Given the description of an element on the screen output the (x, y) to click on. 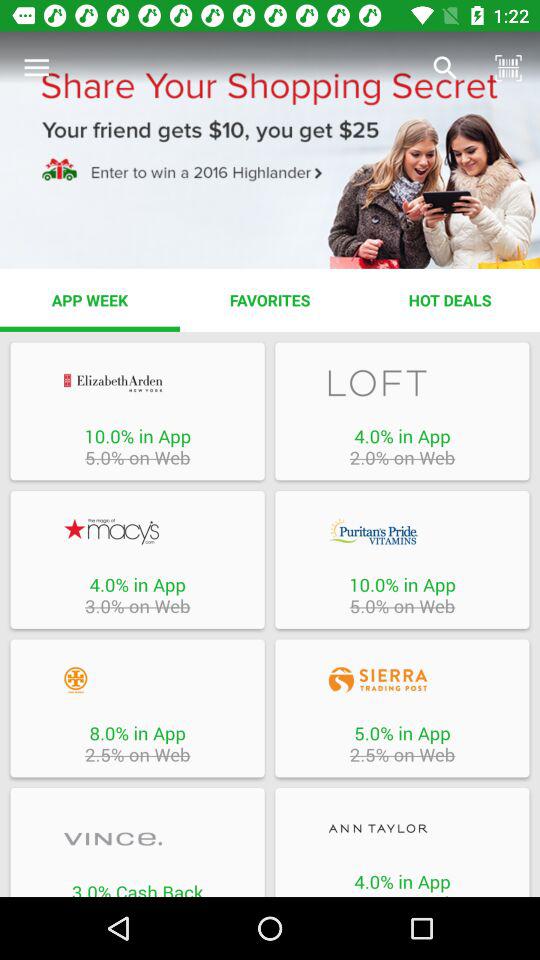
link to website (137, 382)
